Given the description of an element on the screen output the (x, y) to click on. 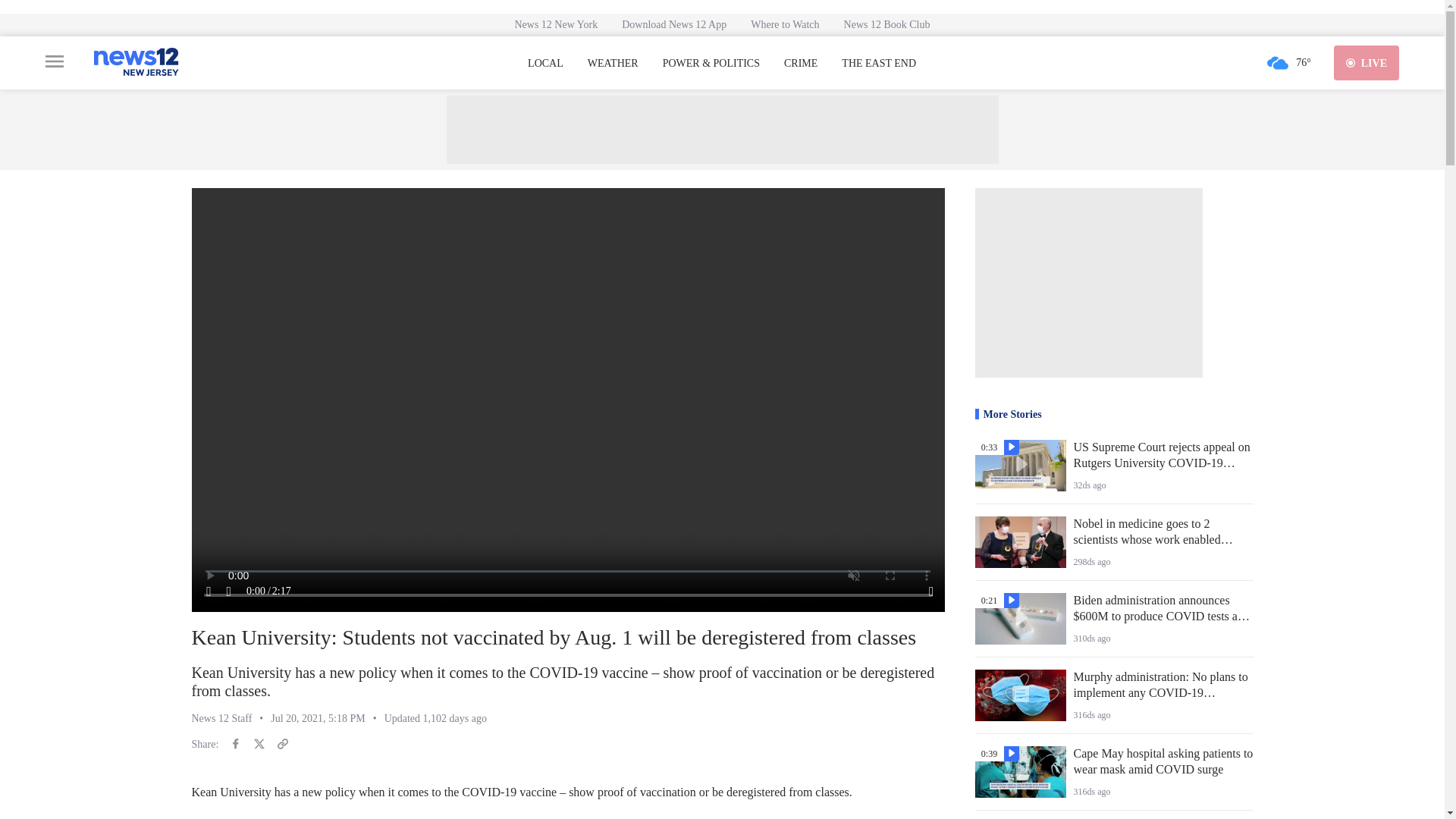
News 12 New York (556, 24)
Where to Watch (784, 24)
THE EAST END (878, 63)
WEATHER (613, 63)
LOCAL (545, 63)
LIVE (1366, 62)
News 12 Book Club (886, 24)
CRIME (800, 63)
Download News 12 App (673, 24)
